Given the description of an element on the screen output the (x, y) to click on. 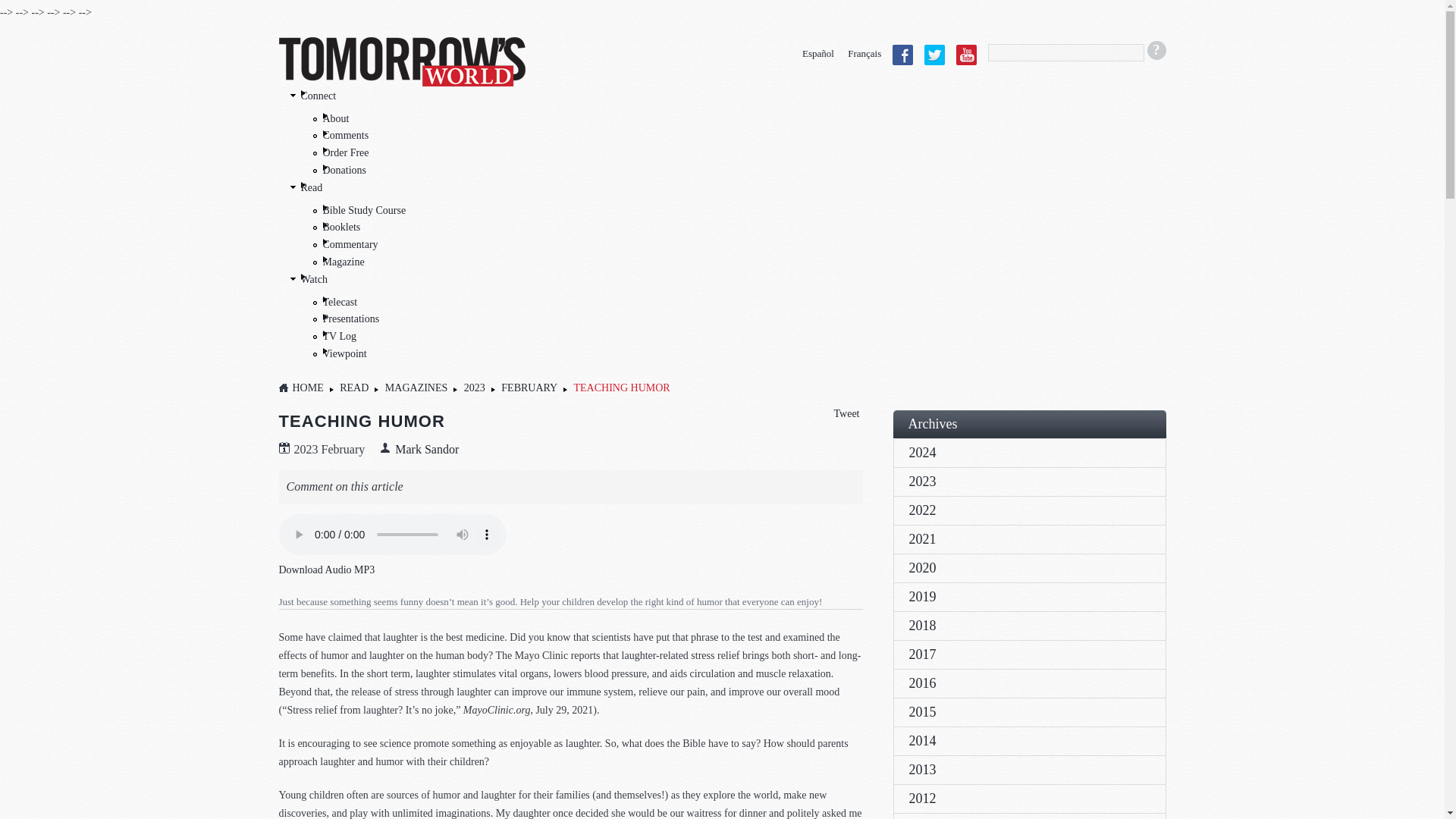
Viewpoint (344, 353)
2016 (1028, 683)
2015 (1028, 711)
2011 (1028, 816)
2023 (1028, 481)
Download Audio MP3 (327, 569)
Telecast (340, 301)
2022 (1028, 510)
Presentations (351, 318)
Booklets (342, 226)
Tweet (845, 413)
2019 (1028, 596)
2020 (1028, 567)
2021 (1028, 538)
Watch (312, 279)
